Given the description of an element on the screen output the (x, y) to click on. 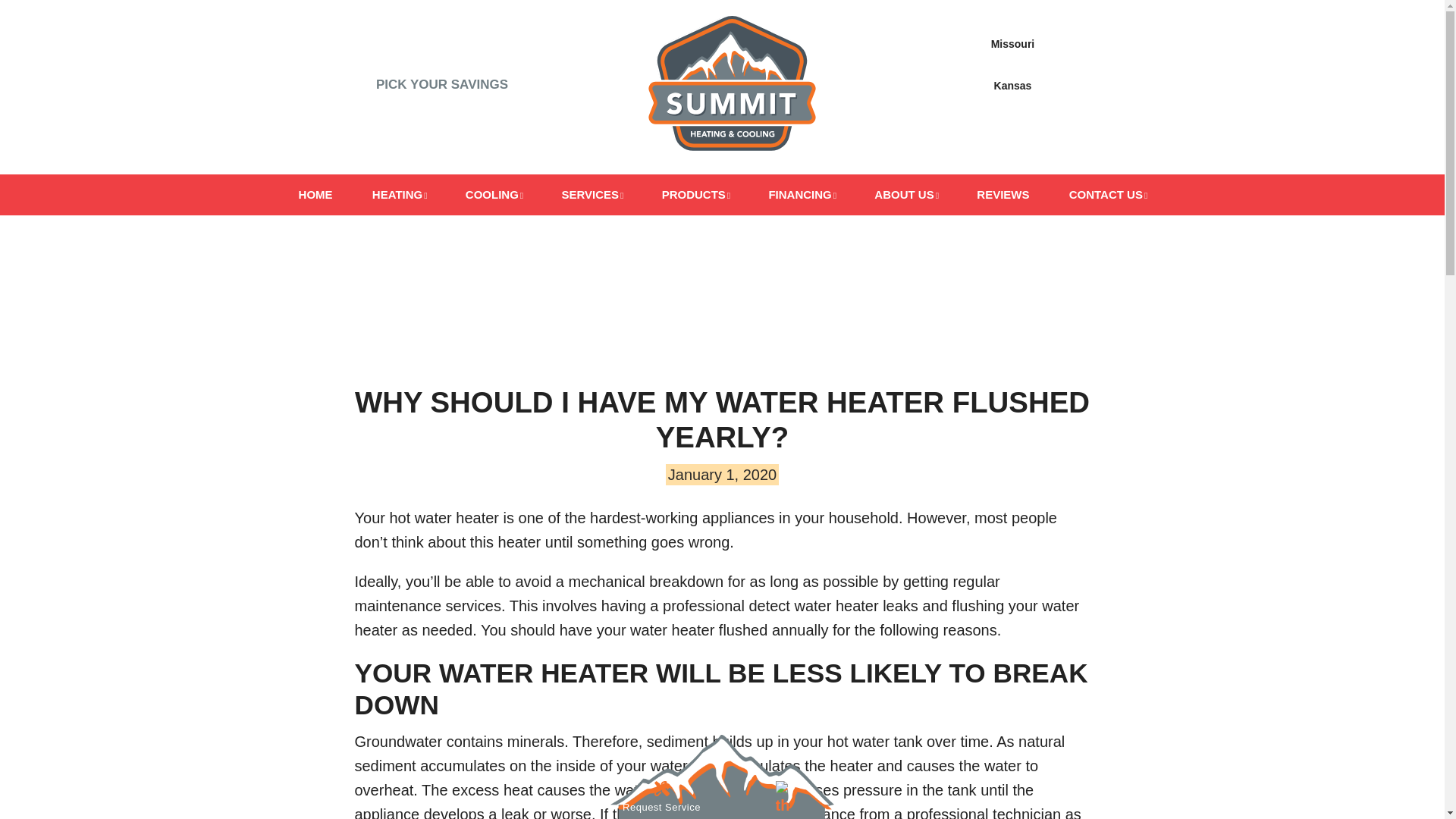
ABOUT US (906, 194)
SCHEDULE ONLINE (1012, 142)
HOME (314, 194)
FINANCING (801, 194)
COOLING (493, 194)
SYSTEM ESTIMATE (441, 131)
PRODUCTS (695, 194)
PICK YOUR SAVINGS (442, 83)
HEATING (399, 194)
SERVICES (591, 194)
